Given the description of an element on the screen output the (x, y) to click on. 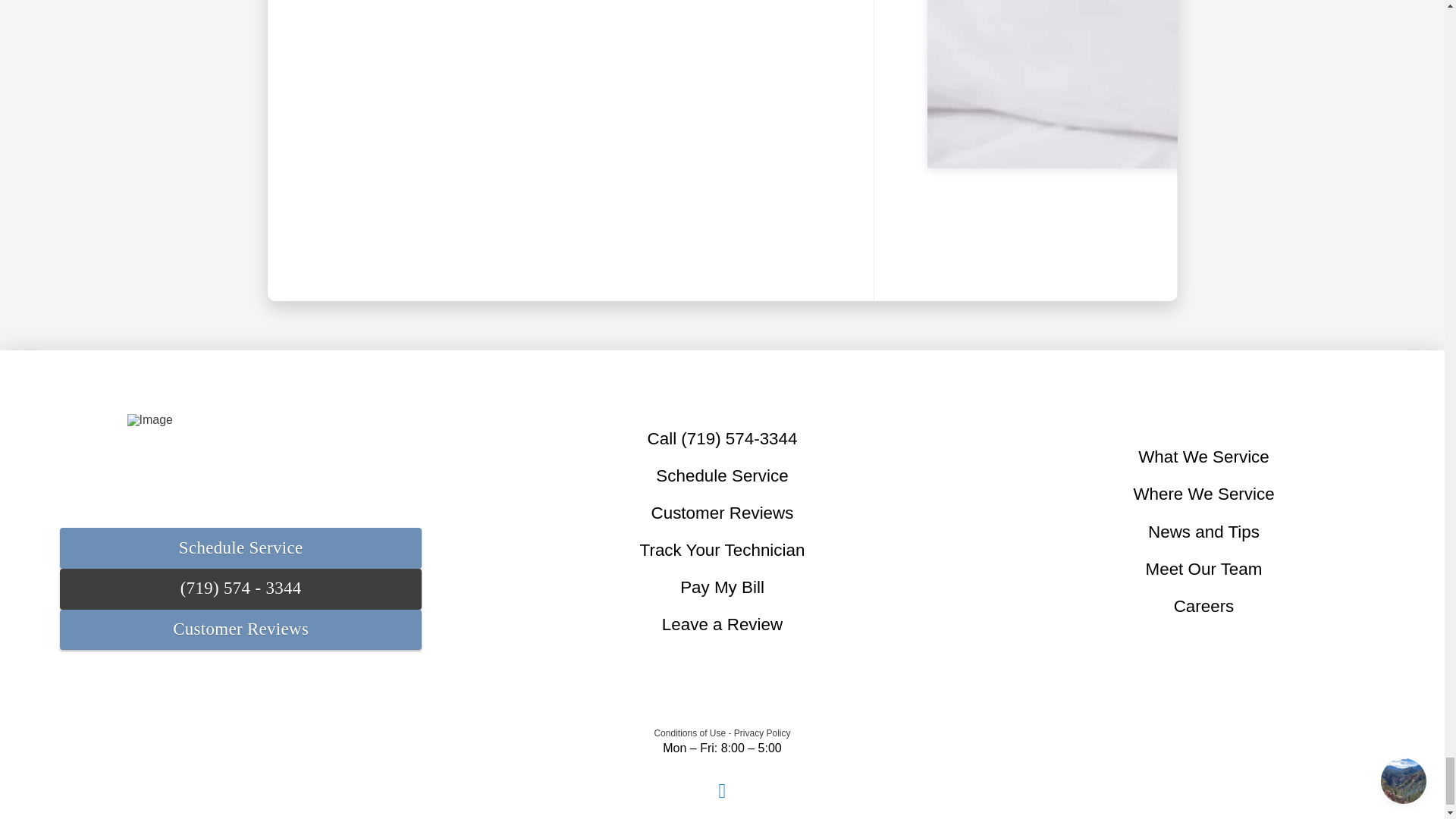
Schedule Service (239, 547)
What We Service (1203, 456)
Pay My Bill (721, 587)
Track Your Technician (721, 550)
Customer Reviews (239, 629)
Customer Reviews (721, 513)
Where We Service (1203, 494)
Leave a Review (721, 624)
Schedule Service (721, 475)
